Given the description of an element on the screen output the (x, y) to click on. 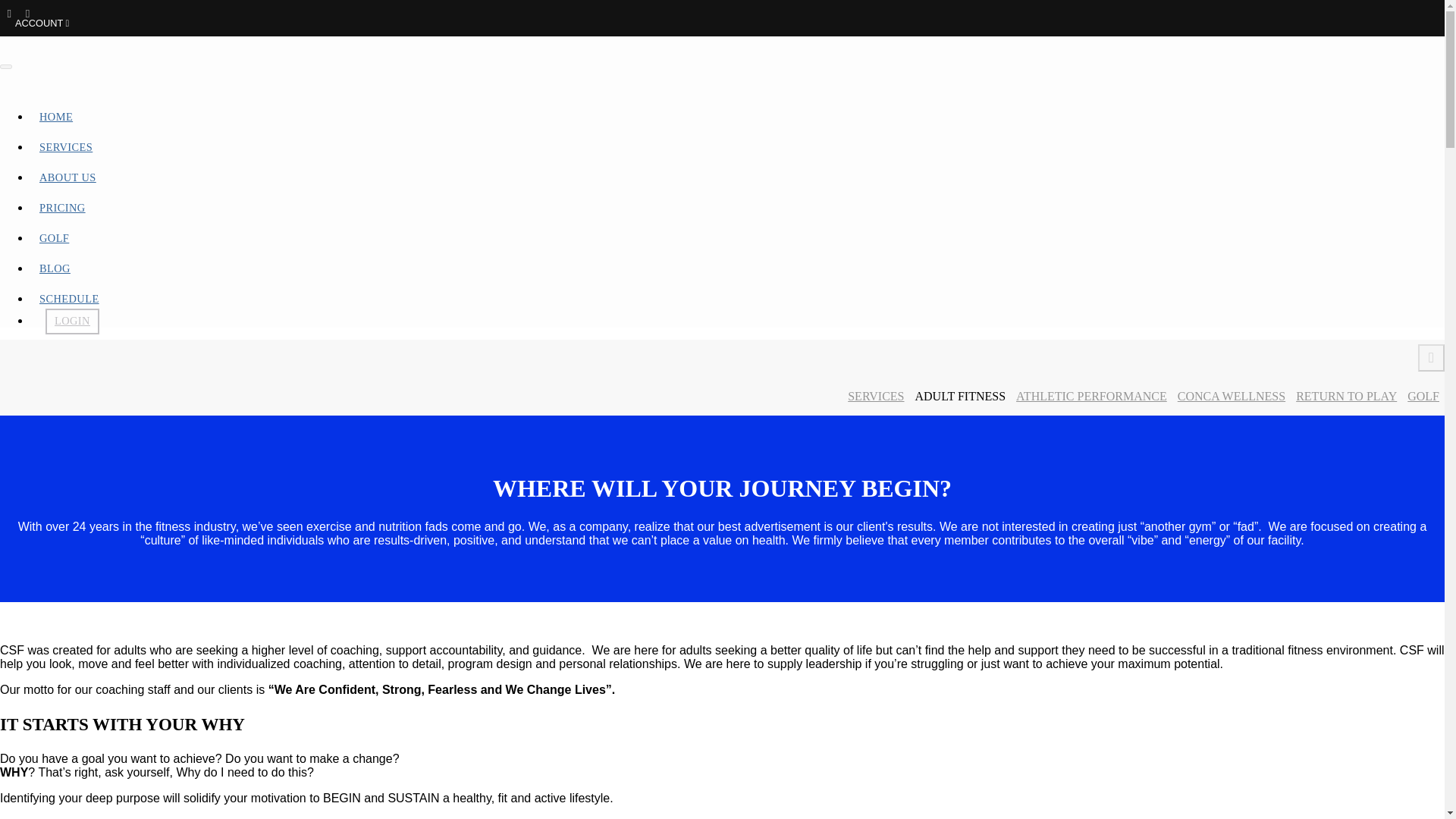
ADULT FITNESS (960, 395)
HOME (55, 116)
GOLF (1423, 395)
ACCOUNT (41, 23)
SERVICES (875, 395)
LOGIN (72, 321)
GOLF (54, 237)
RETURN TO PLAY (1345, 395)
PRICING (62, 207)
ABOUT US (67, 177)
